Given the description of an element on the screen output the (x, y) to click on. 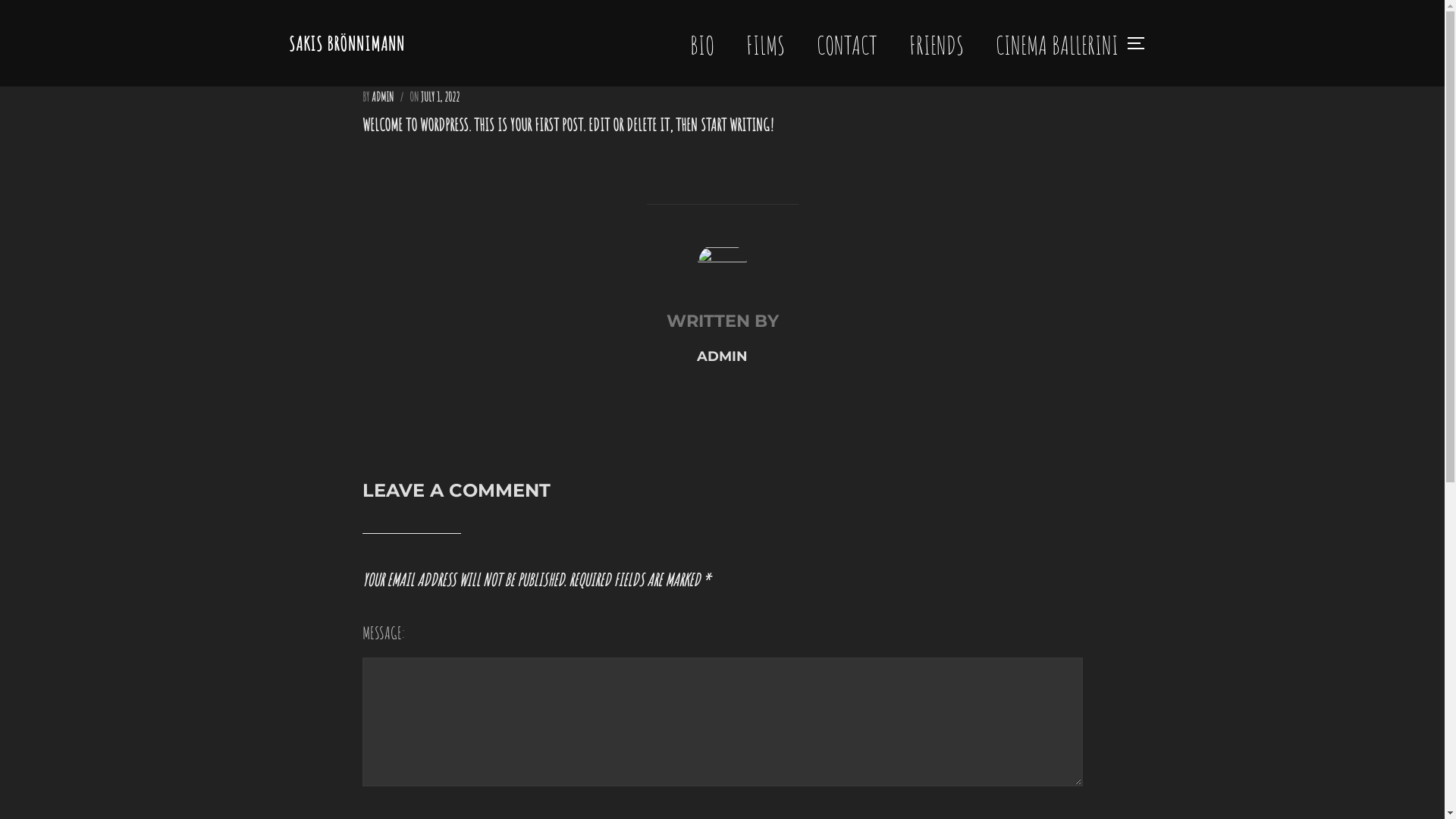
FRIENDS Element type: text (935, 42)
FILMS Element type: text (765, 42)
JULY 1, 2022 Element type: text (439, 96)
CINEMA BALLERINI Element type: text (1055, 42)
ADMIN Element type: text (382, 96)
CONTACT Element type: text (845, 42)
ADMIN Element type: text (721, 356)
BIO Element type: text (702, 42)
TOGGLE SIDEBAR & NAVIGATION Element type: text (1140, 42)
